Given the description of an element on the screen output the (x, y) to click on. 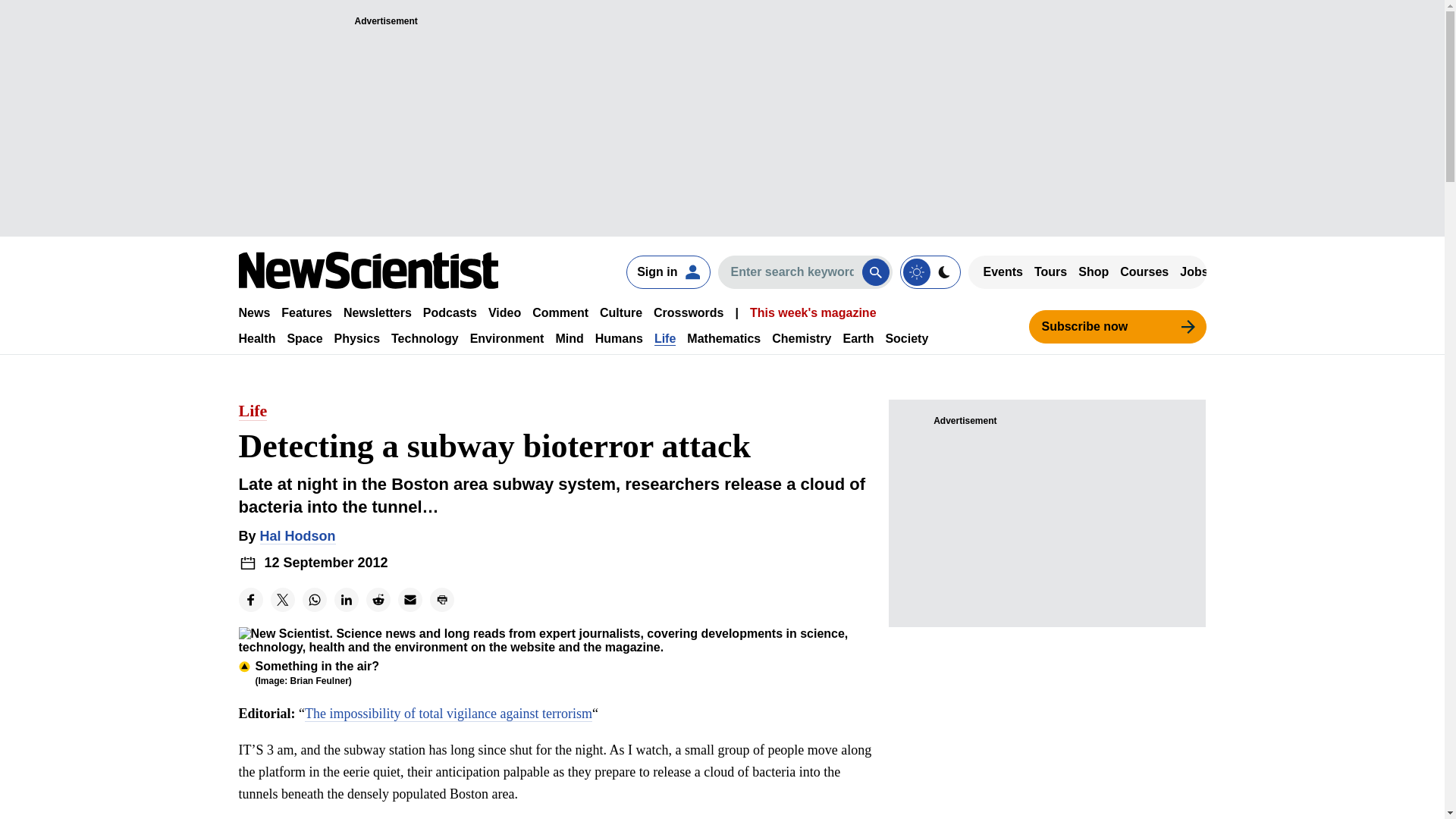
This week's magazine (812, 313)
Life (664, 338)
Technology (424, 338)
Culture (620, 313)
Video (504, 313)
Calendar icon (247, 562)
Mathematics (723, 338)
Subscribe now (1116, 326)
Tours (1050, 272)
Comment (560, 313)
Humans (619, 338)
Crosswords (688, 313)
Features (306, 313)
Health (256, 338)
Sign In page link (668, 272)
